Given the description of an element on the screen output the (x, y) to click on. 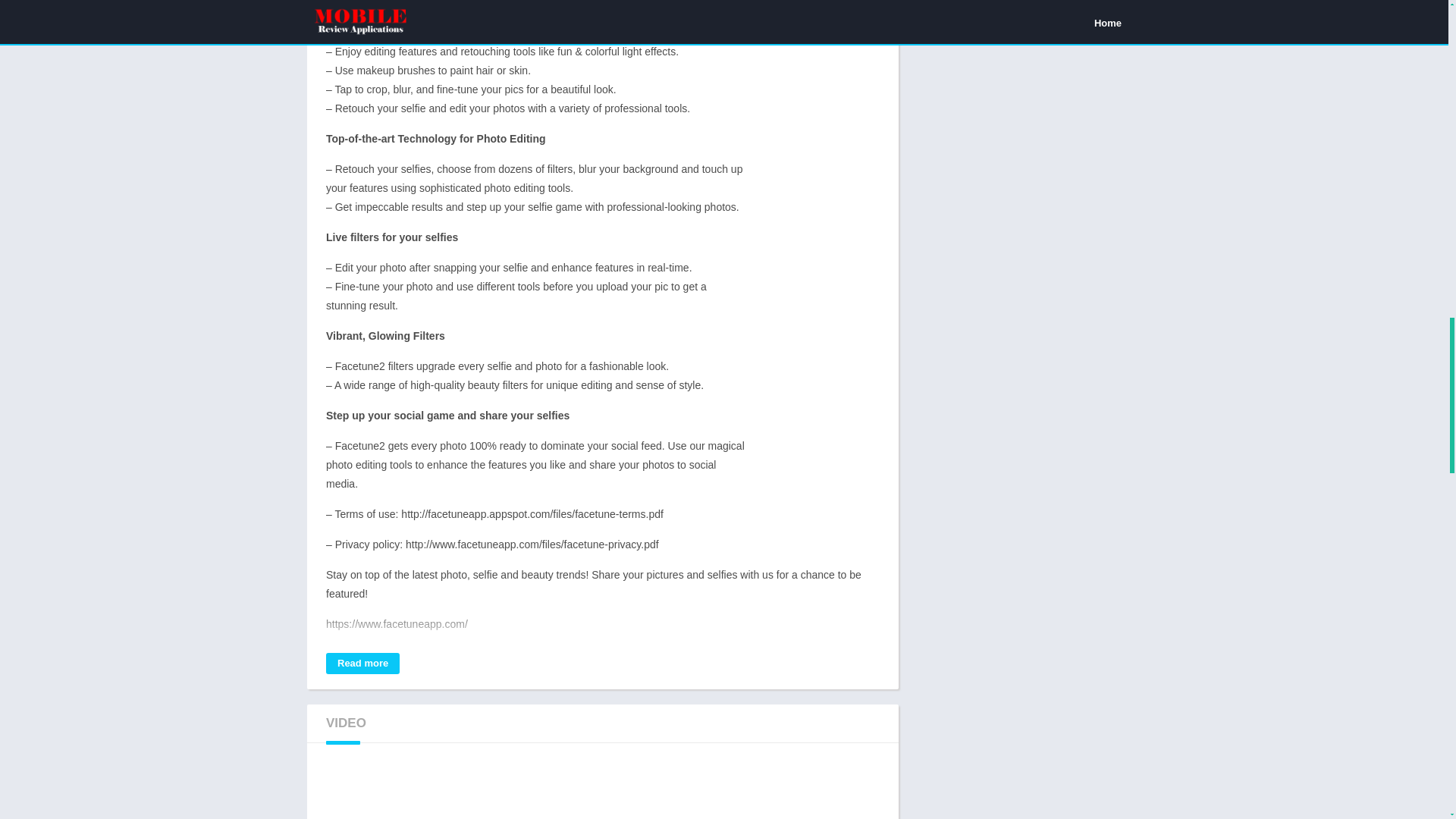
Read more (362, 663)
